Given the description of an element on the screen output the (x, y) to click on. 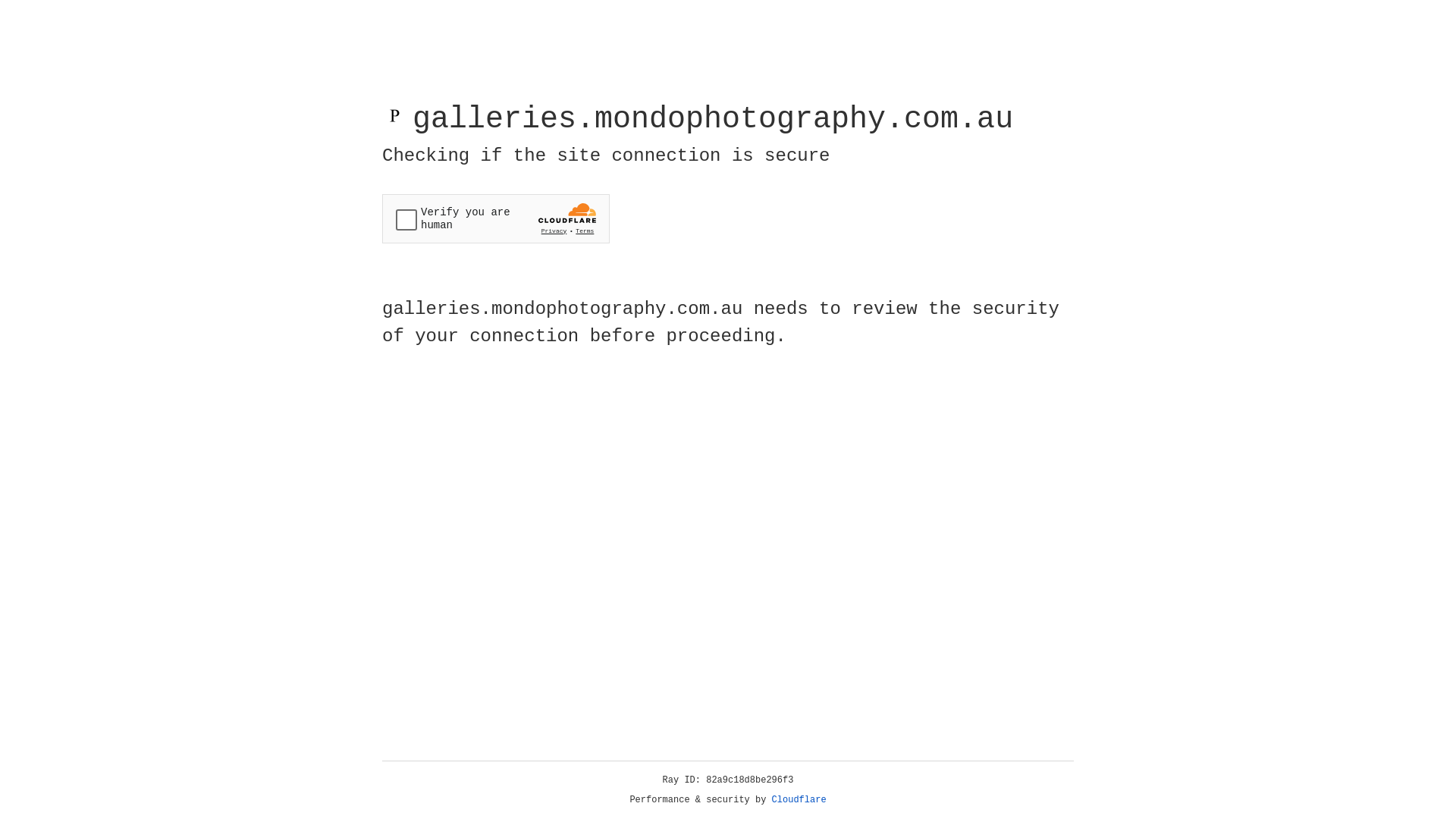
Widget containing a Cloudflare security challenge Element type: hover (495, 218)
Cloudflare Element type: text (798, 799)
